Given the description of an element on the screen output the (x, y) to click on. 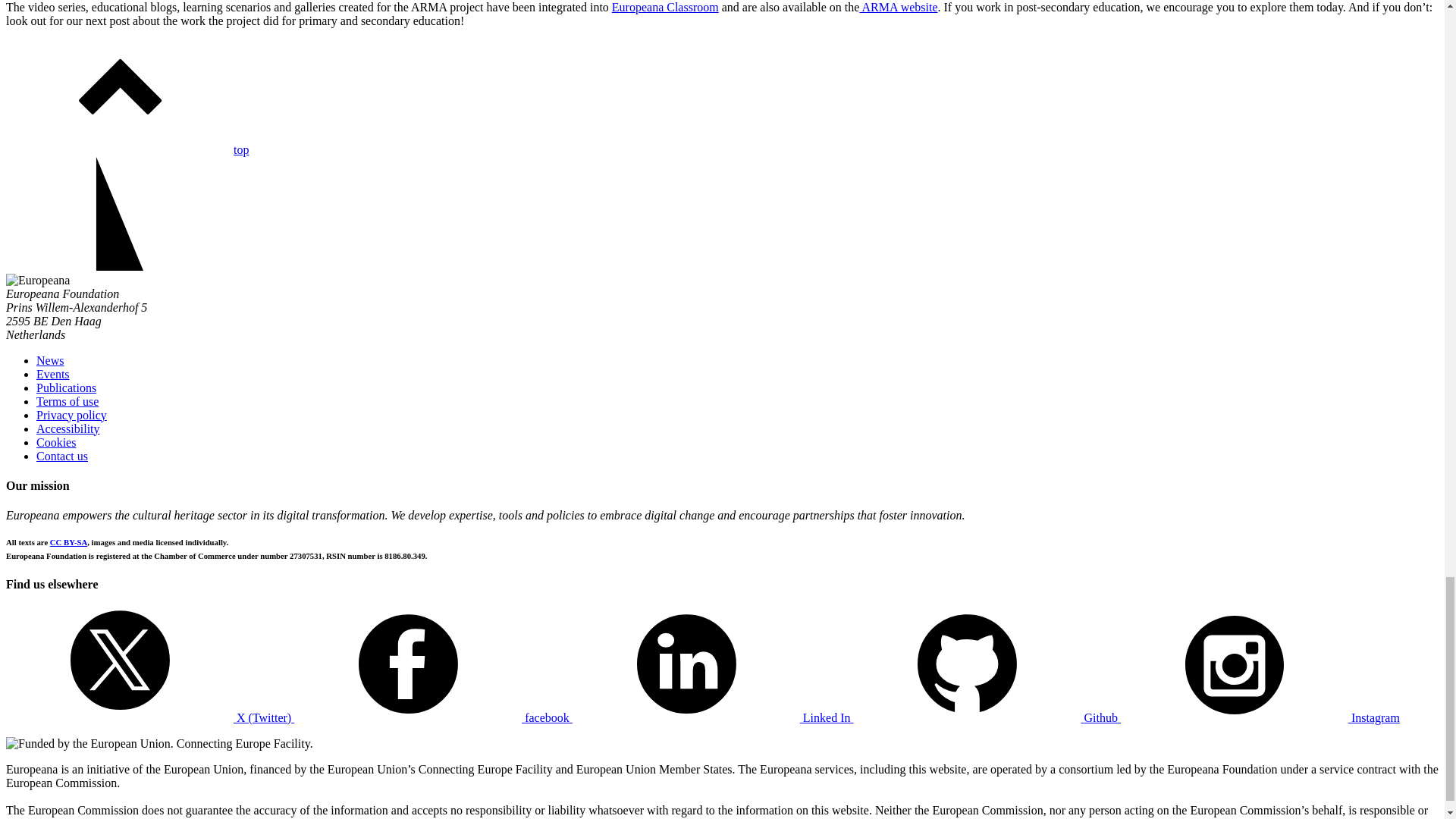
ARMA website (898, 6)
News (50, 359)
Privacy policy (71, 414)
News (50, 359)
Events (52, 373)
CC BY-SA (68, 542)
Contact us (61, 455)
Publications (66, 387)
Europeana Classroom (665, 6)
Events (52, 373)
